Given the description of an element on the screen output the (x, y) to click on. 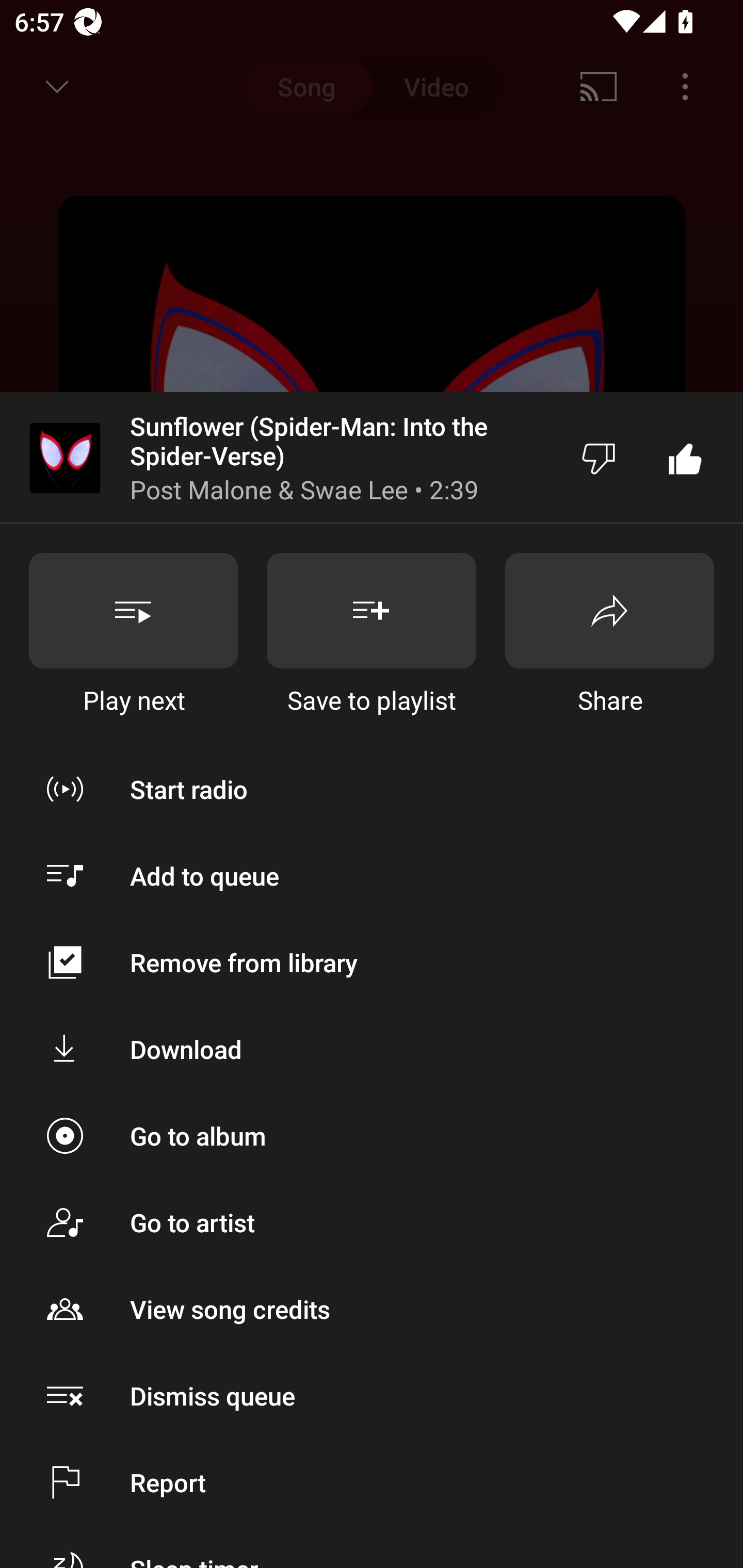
Dislike (598, 457)
Undo like (684, 457)
Start radio (371, 789)
Add to queue (371, 875)
Remove from library (371, 961)
Download (371, 1048)
Go to album (371, 1135)
Go to artist (371, 1222)
View song credits (371, 1308)
Dismiss queue (371, 1395)
Report (371, 1482)
